Given the description of an element on the screen output the (x, y) to click on. 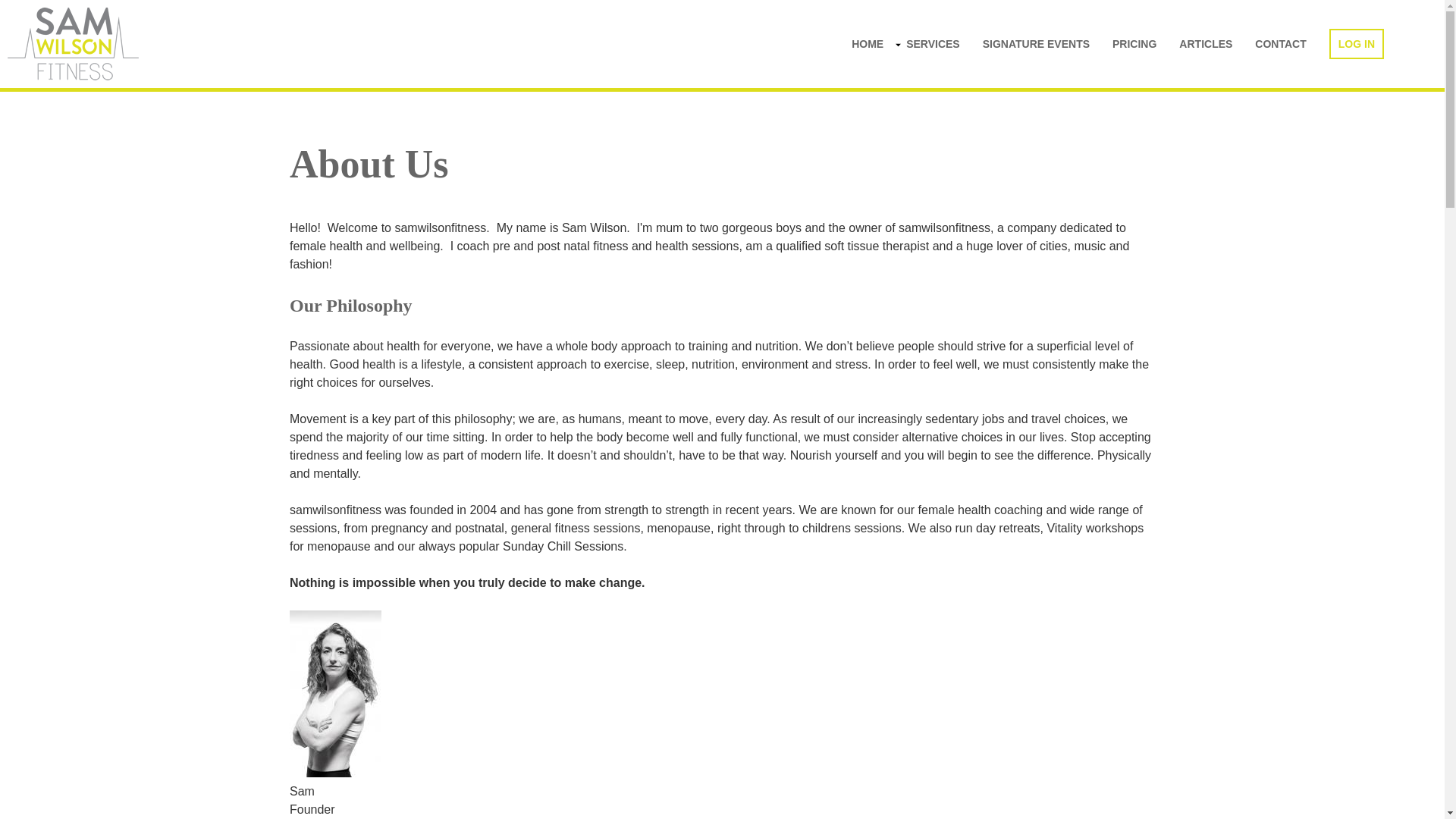
CONTACT (1280, 43)
PRICING (1134, 43)
SERVICES (932, 43)
Home (73, 43)
SIGNATURE EVENTS (1035, 43)
ARTICLES (1205, 43)
HOME (867, 43)
